Given the description of an element on the screen output the (x, y) to click on. 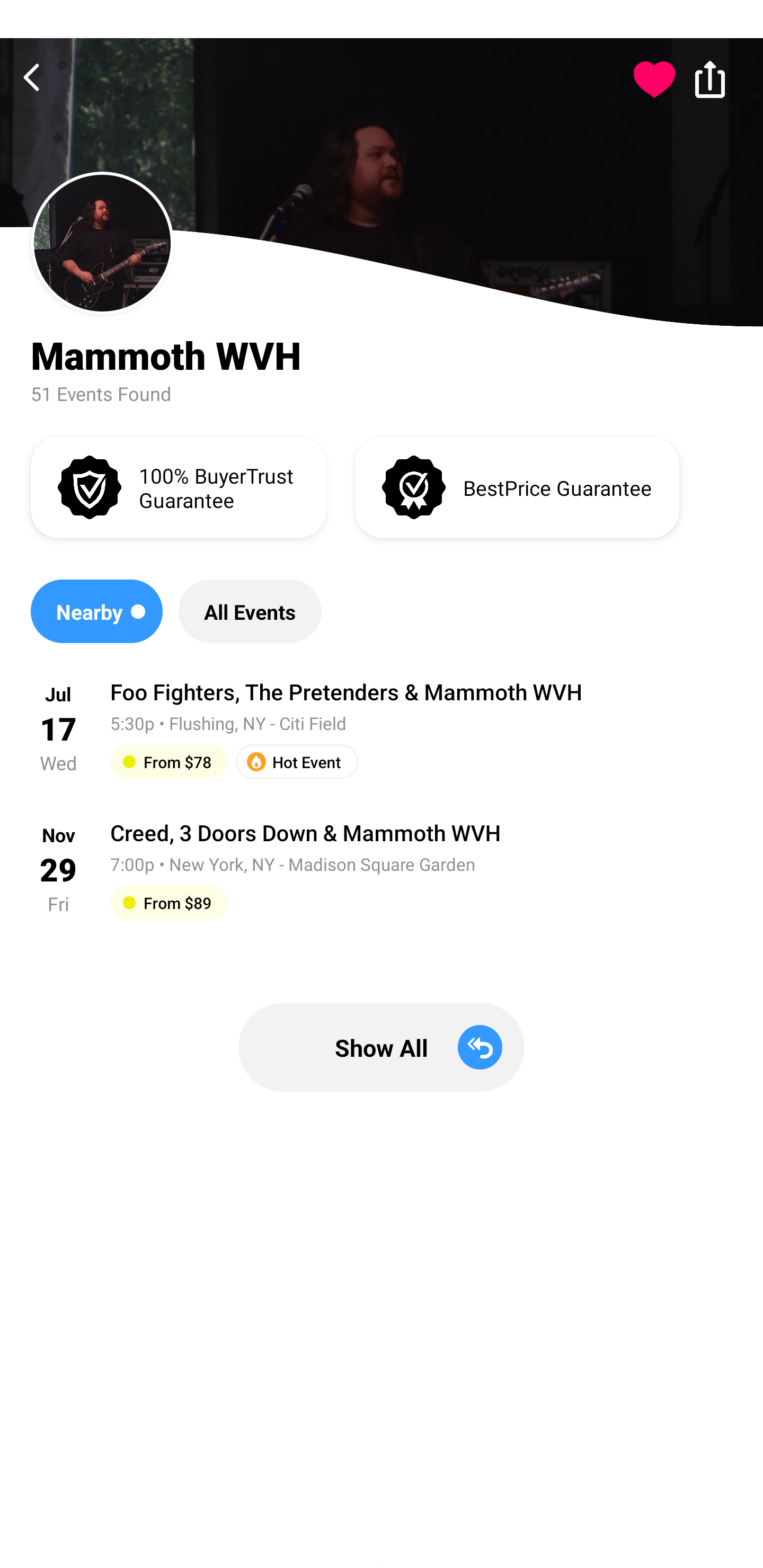
100% BuyerTrust Guarantee (178, 486)
BestPrice Guarantee (516, 486)
Nearby (96, 611)
All Events (249, 611)
Show All (381, 1047)
